Given the description of an element on the screen output the (x, y) to click on. 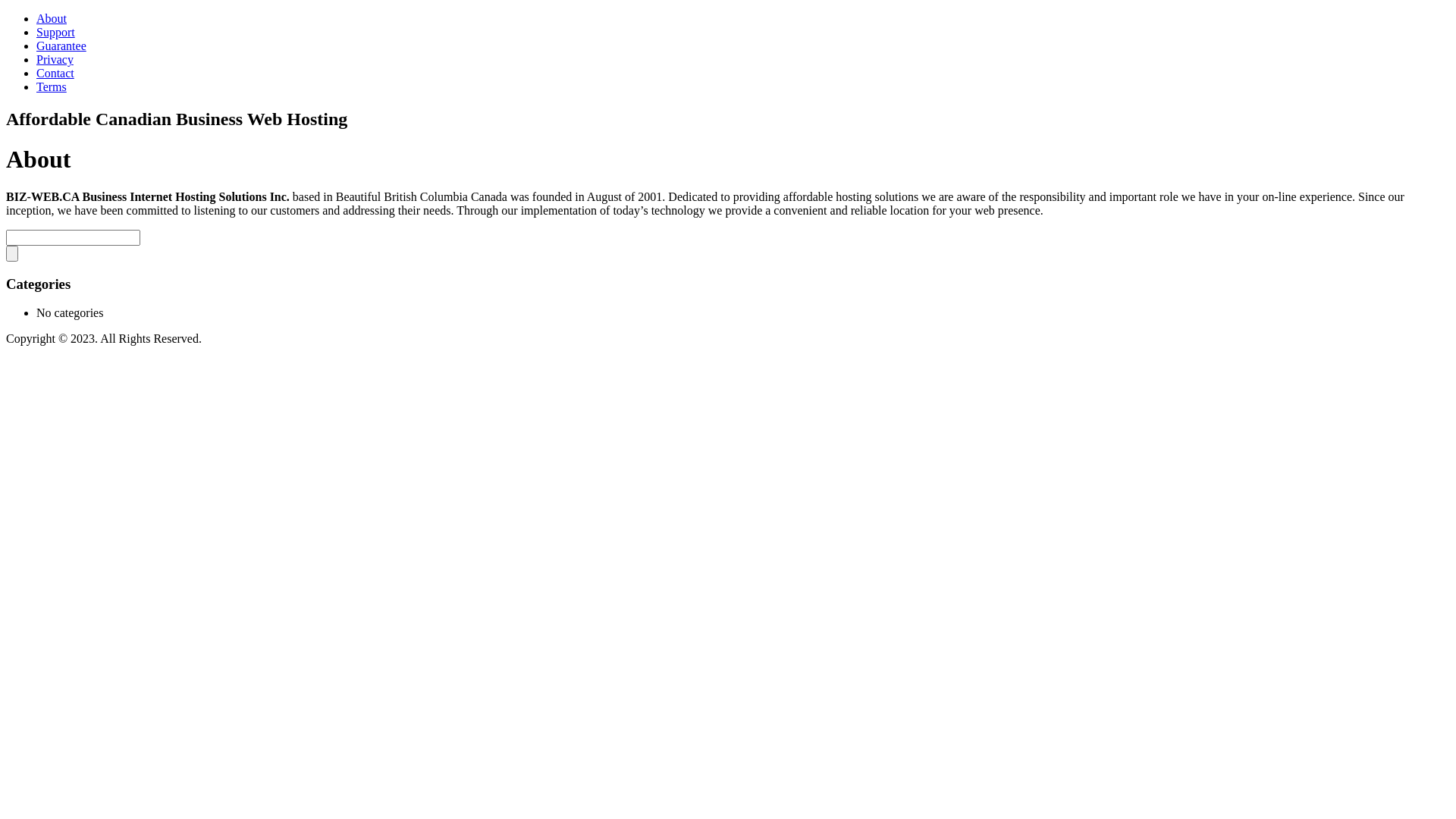
Contact Element type: text (55, 72)
Guarantee Element type: text (61, 45)
About Element type: text (51, 18)
Terms Element type: text (51, 86)
Support Element type: text (55, 31)
Privacy Element type: text (54, 59)
